Given the description of an element on the screen output the (x, y) to click on. 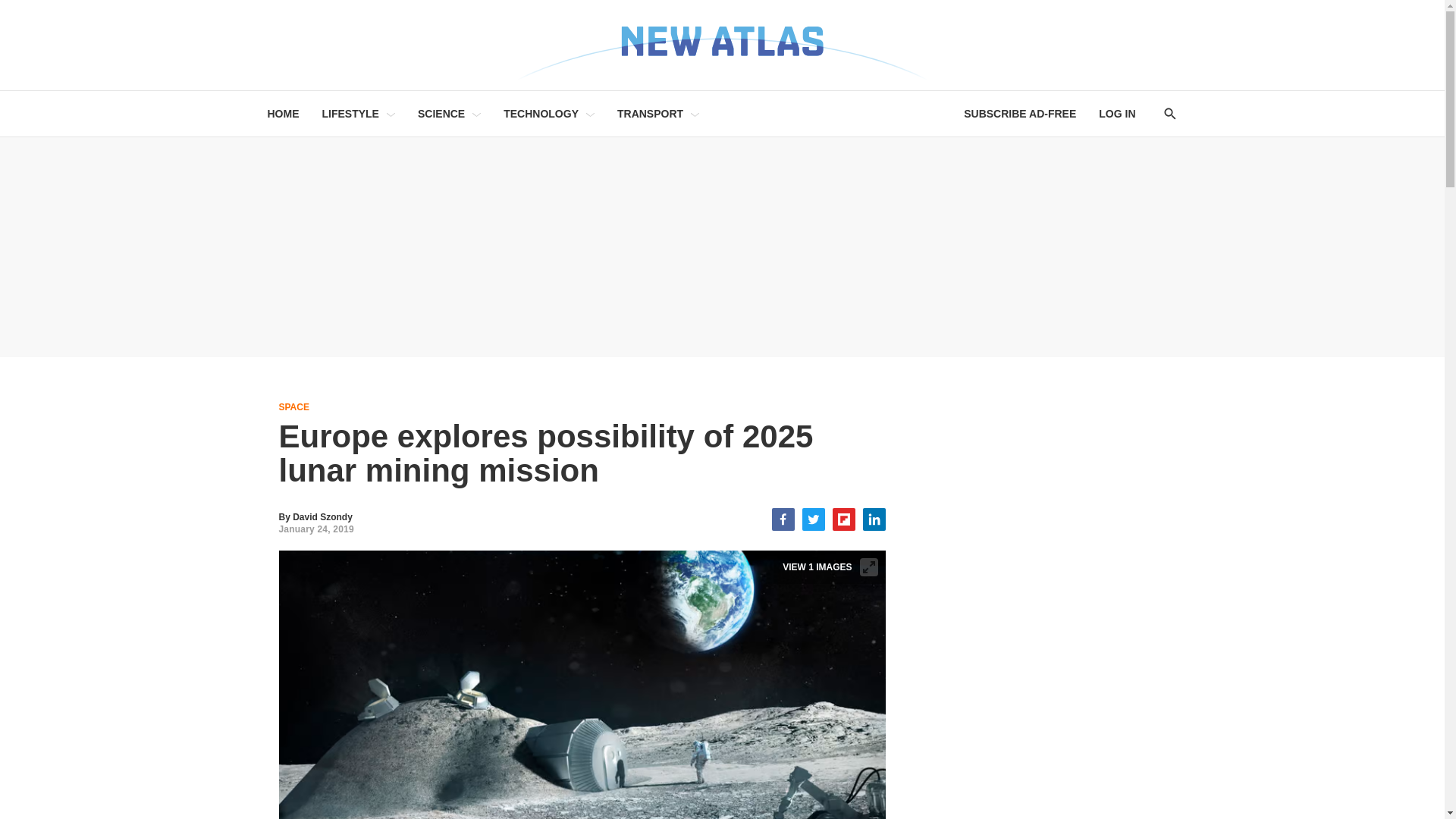
View full-screen (868, 566)
